Given the description of an element on the screen output the (x, y) to click on. 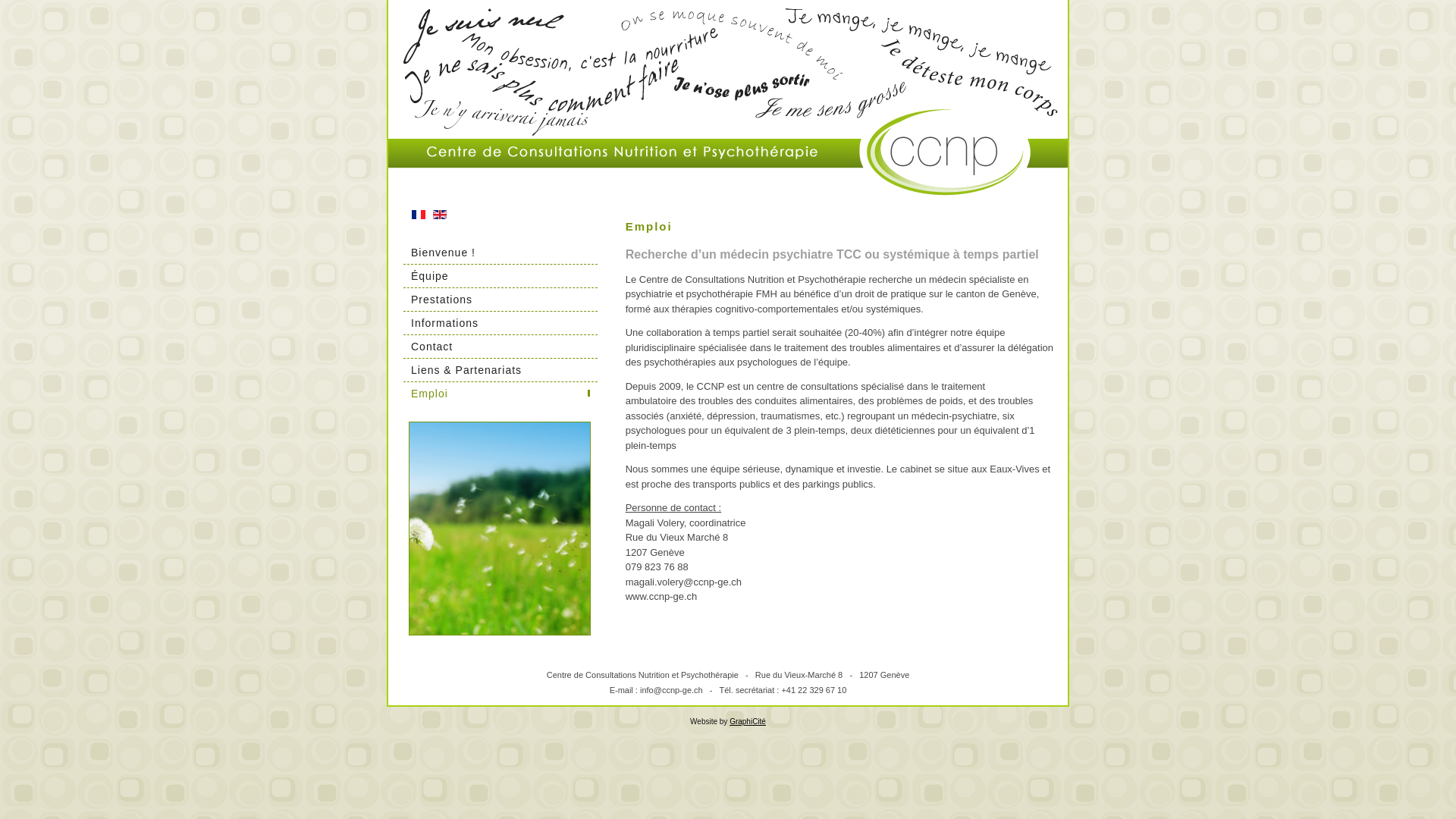
Emploi Element type: text (500, 392)
Informations Element type: text (500, 322)
Prestations Element type: text (500, 298)
Contact Element type: text (500, 345)
English (UK) Element type: hover (439, 214)
Bienvenue ! Element type: text (500, 251)
Liens & Partenariats Element type: text (500, 369)
